Given the description of an element on the screen output the (x, y) to click on. 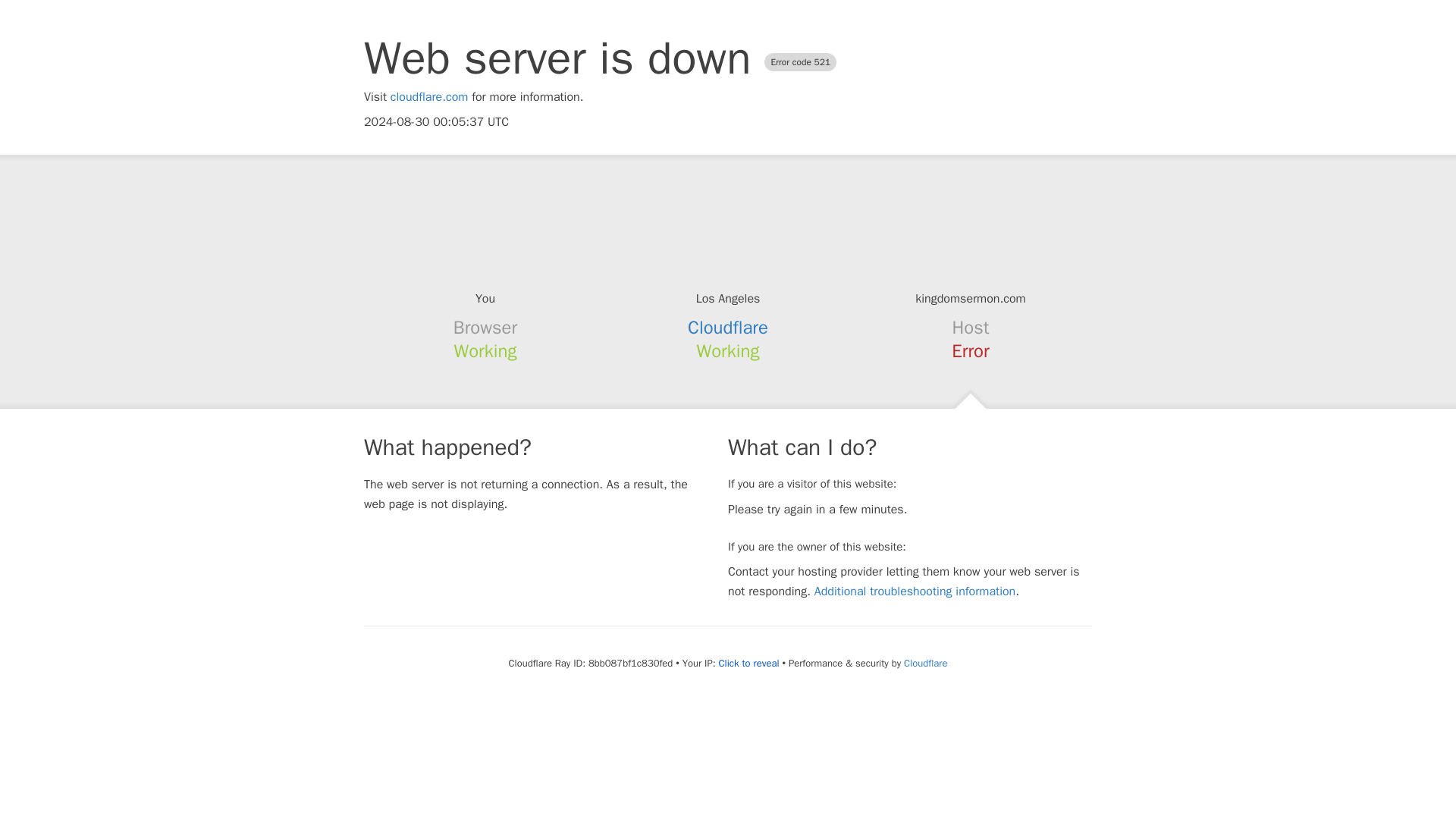
Cloudflare (925, 662)
cloudflare.com (429, 96)
Cloudflare (727, 327)
Additional troubleshooting information (913, 590)
Click to reveal (748, 663)
